Given the description of an element on the screen output the (x, y) to click on. 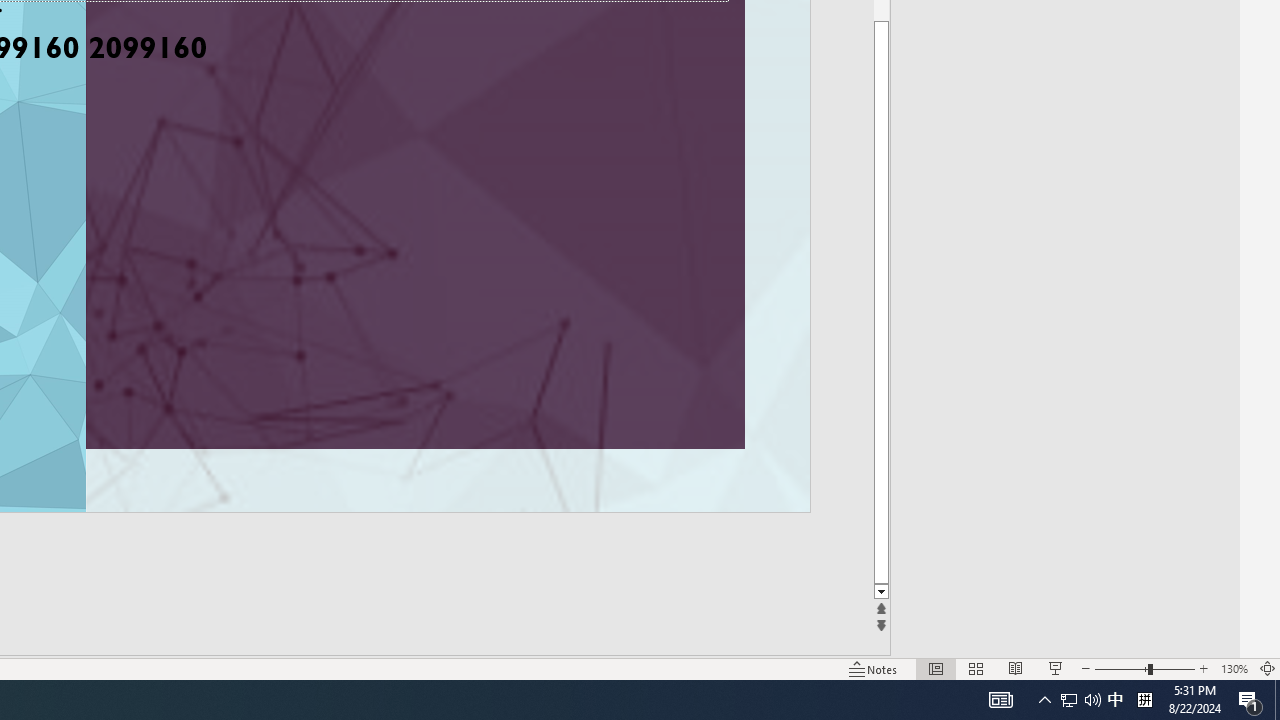
Zoom 130% (1234, 668)
